Given the description of an element on the screen output the (x, y) to click on. 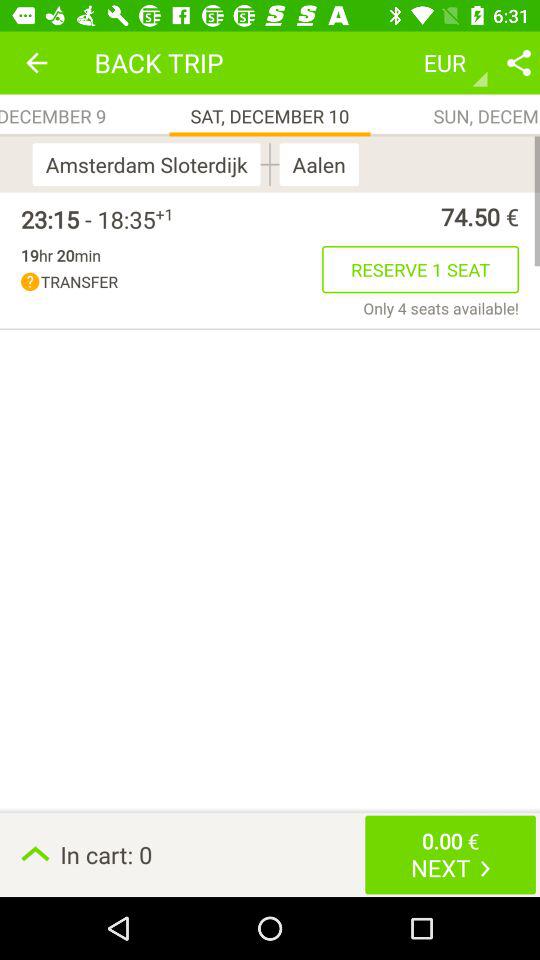
turn on app above fri, december 9 app (36, 62)
